Given the description of an element on the screen output the (x, y) to click on. 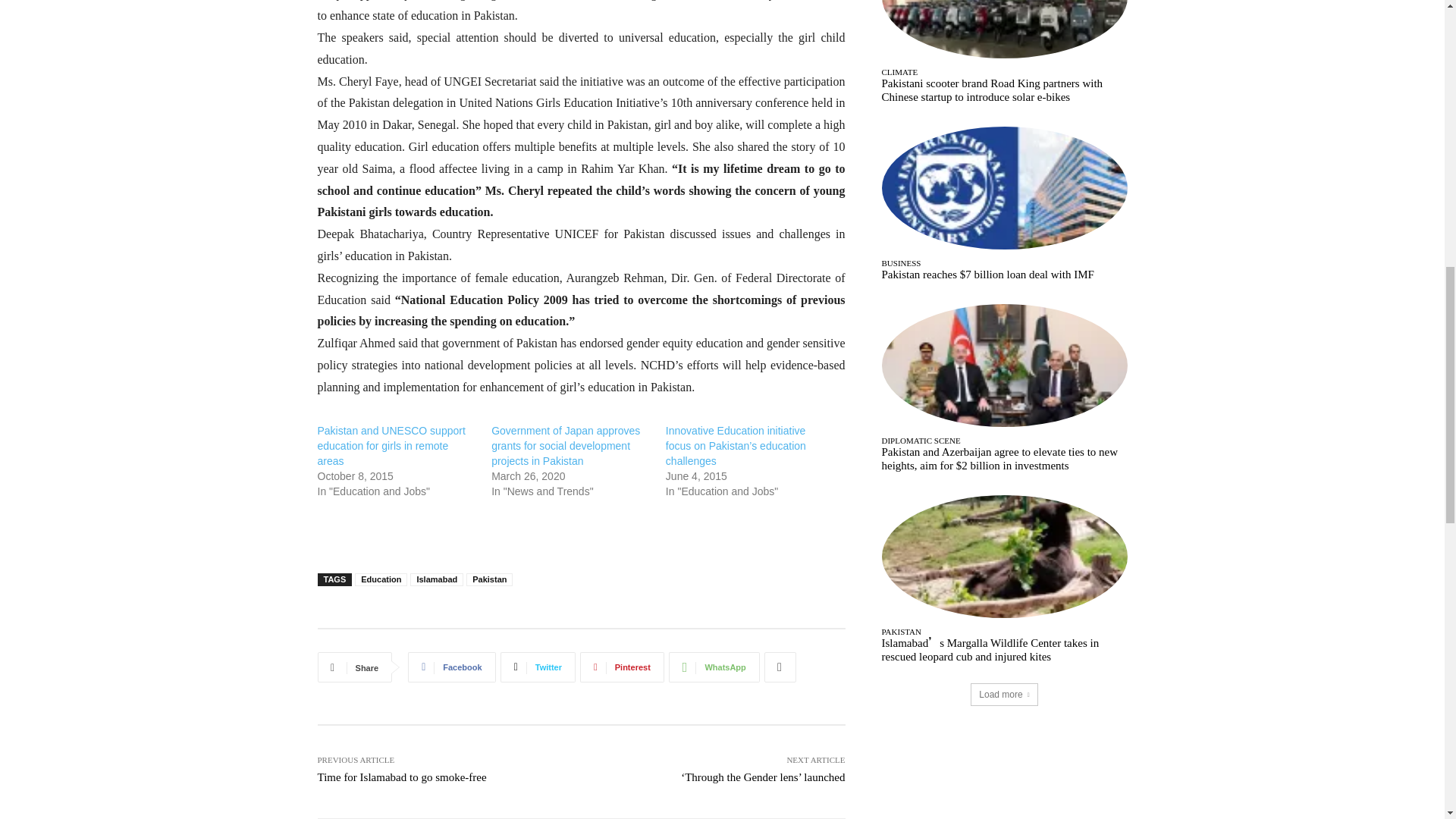
Twitter (537, 666)
Facebook (451, 666)
Pinterest (621, 666)
